Given the description of an element on the screen output the (x, y) to click on. 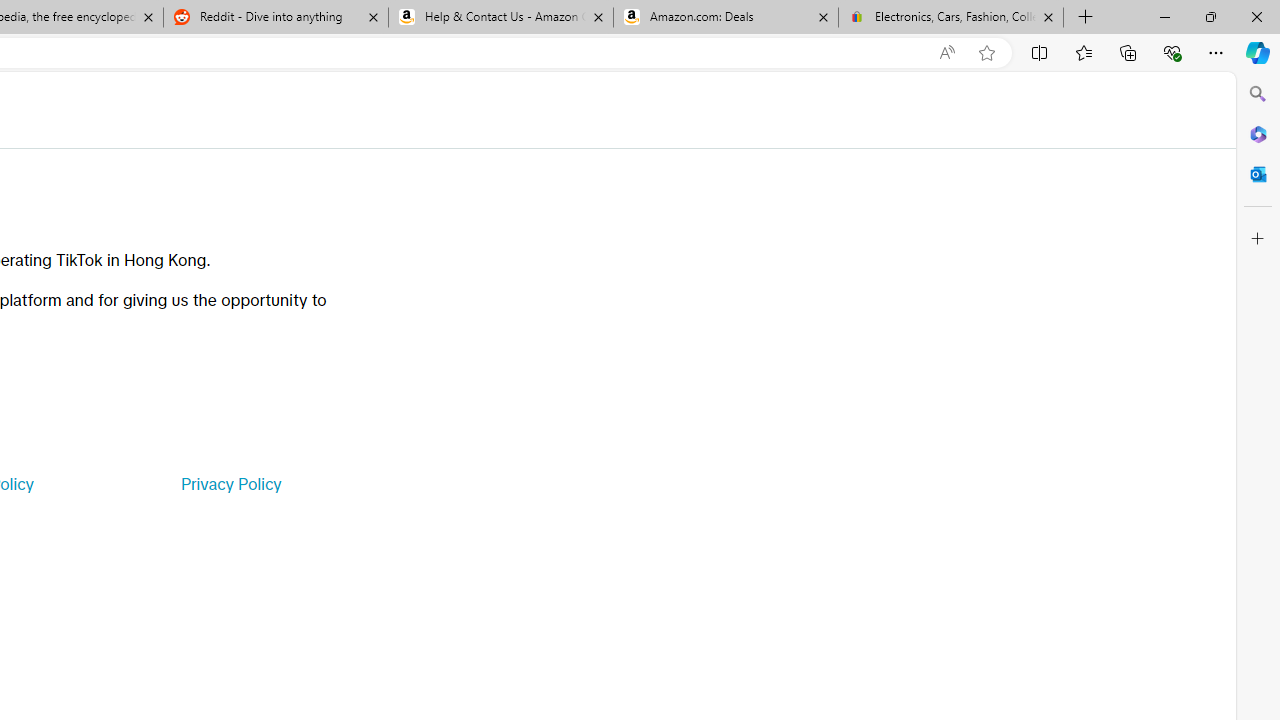
Amazon.com: Deals (726, 17)
Privacy Policy (230, 484)
Reddit - Dive into anything (275, 17)
